Given the description of an element on the screen output the (x, y) to click on. 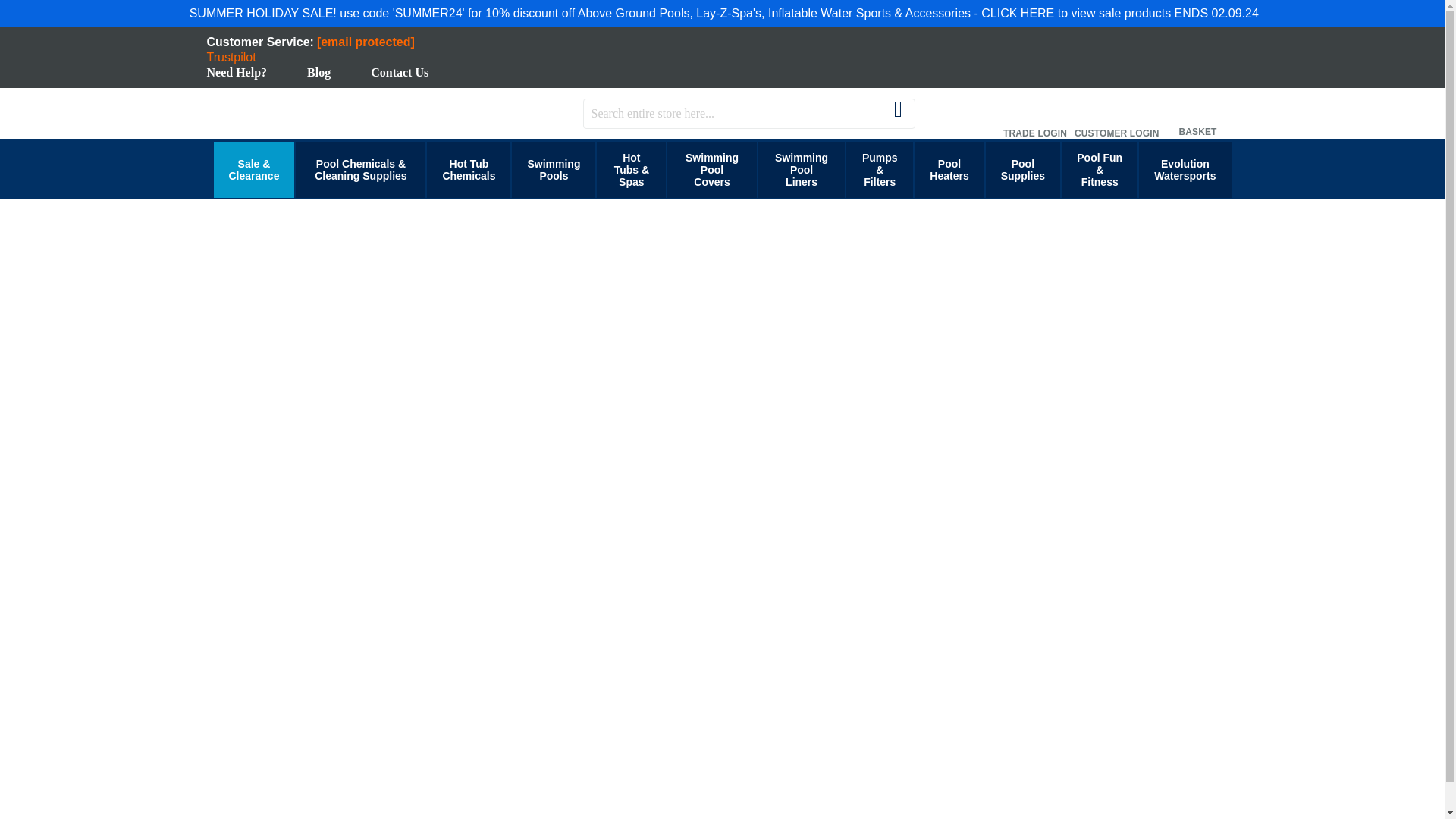
Contact Us (399, 72)
Blog (318, 72)
Need Help? (236, 72)
CLICK HERE (1017, 12)
Trustpilot (231, 56)
BASKET (1197, 111)
TRADE LOGIN (1034, 112)
CUSTOMER LOGIN (1116, 112)
